Given the description of an element on the screen output the (x, y) to click on. 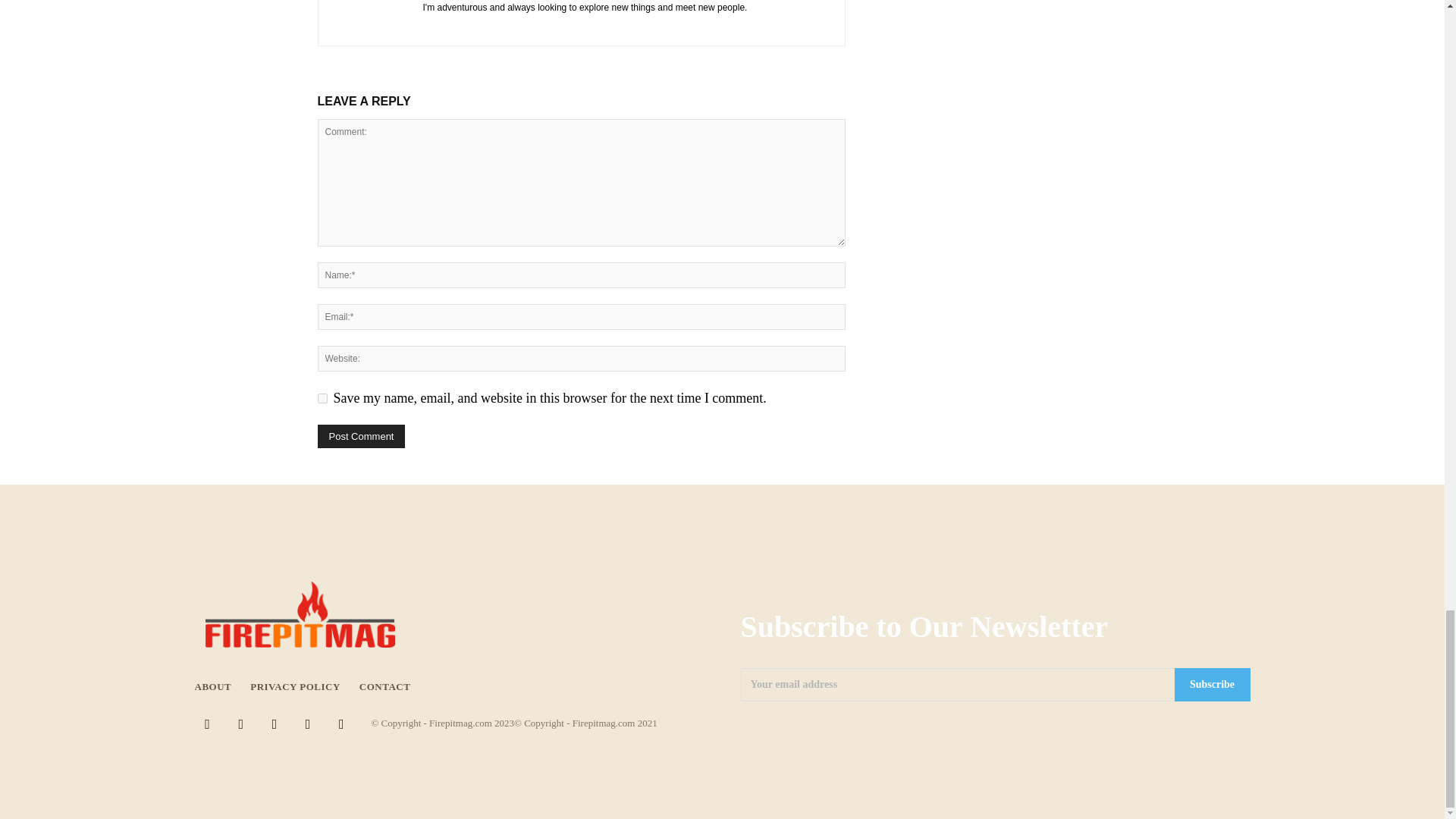
yes (321, 398)
Post Comment (360, 436)
Post Comment (360, 436)
